Given the description of an element on the screen output the (x, y) to click on. 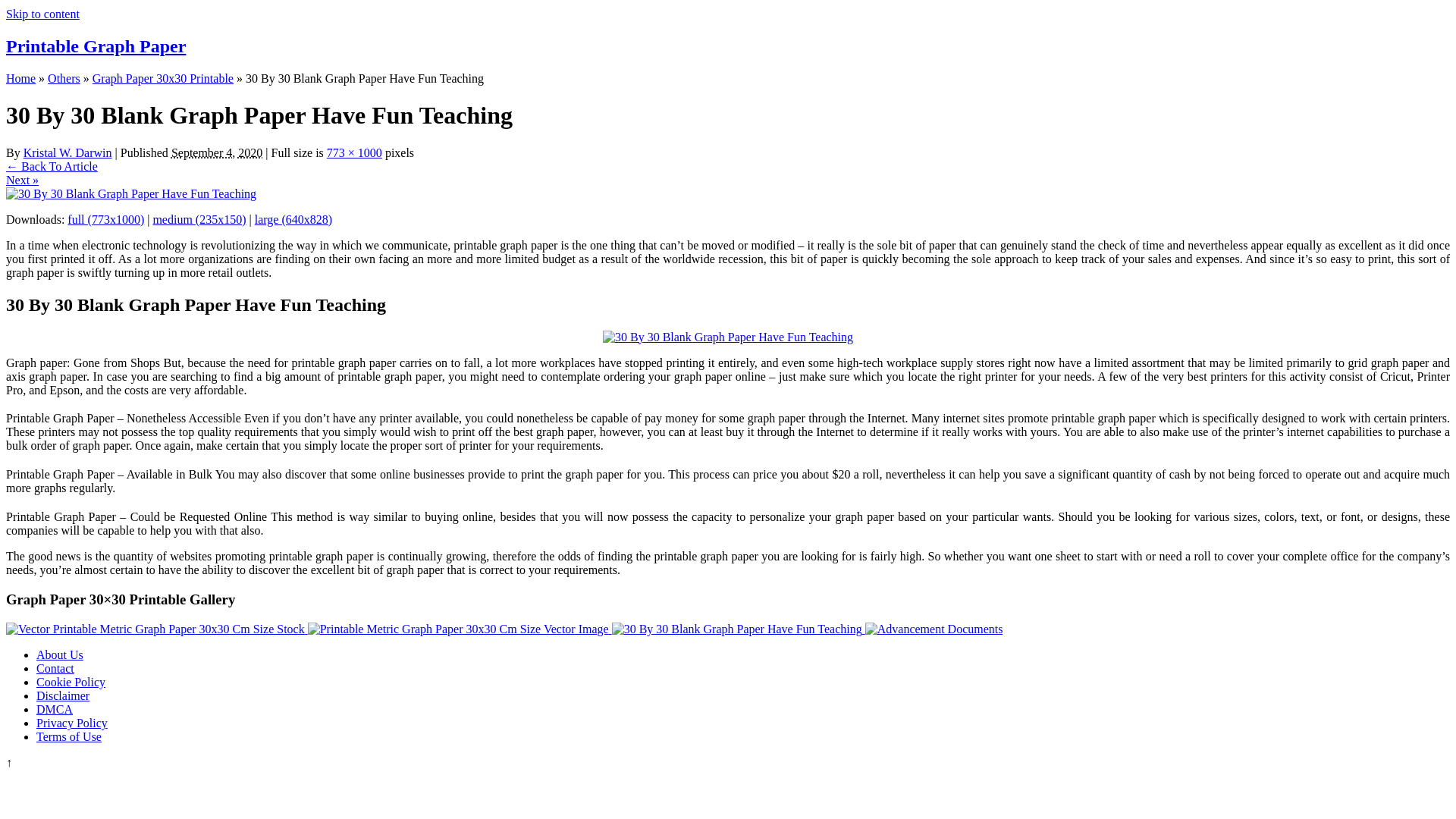
Skip to content (42, 13)
Link to full-size image (353, 152)
Graph Paper 30x30 Printable (162, 78)
Advancement Documents (933, 628)
Kristal W. Darwin (67, 152)
Privacy Policy (71, 722)
Disclaimer (62, 695)
Vector Printable Metric Graph Paper 30x30 Cm Size Stock (156, 628)
30 By 30 Blank Graph Paper Have Fun Teaching (736, 629)
DMCA (54, 708)
Printable Graph Paper (95, 46)
Vector Printable Metric Graph Paper 30x30 Cm Size Stock (154, 629)
Home (19, 78)
Cookie Policy (70, 681)
30 By 30 Blank Graph Paper Have Fun Teaching (130, 193)
